Given the description of an element on the screen output the (x, y) to click on. 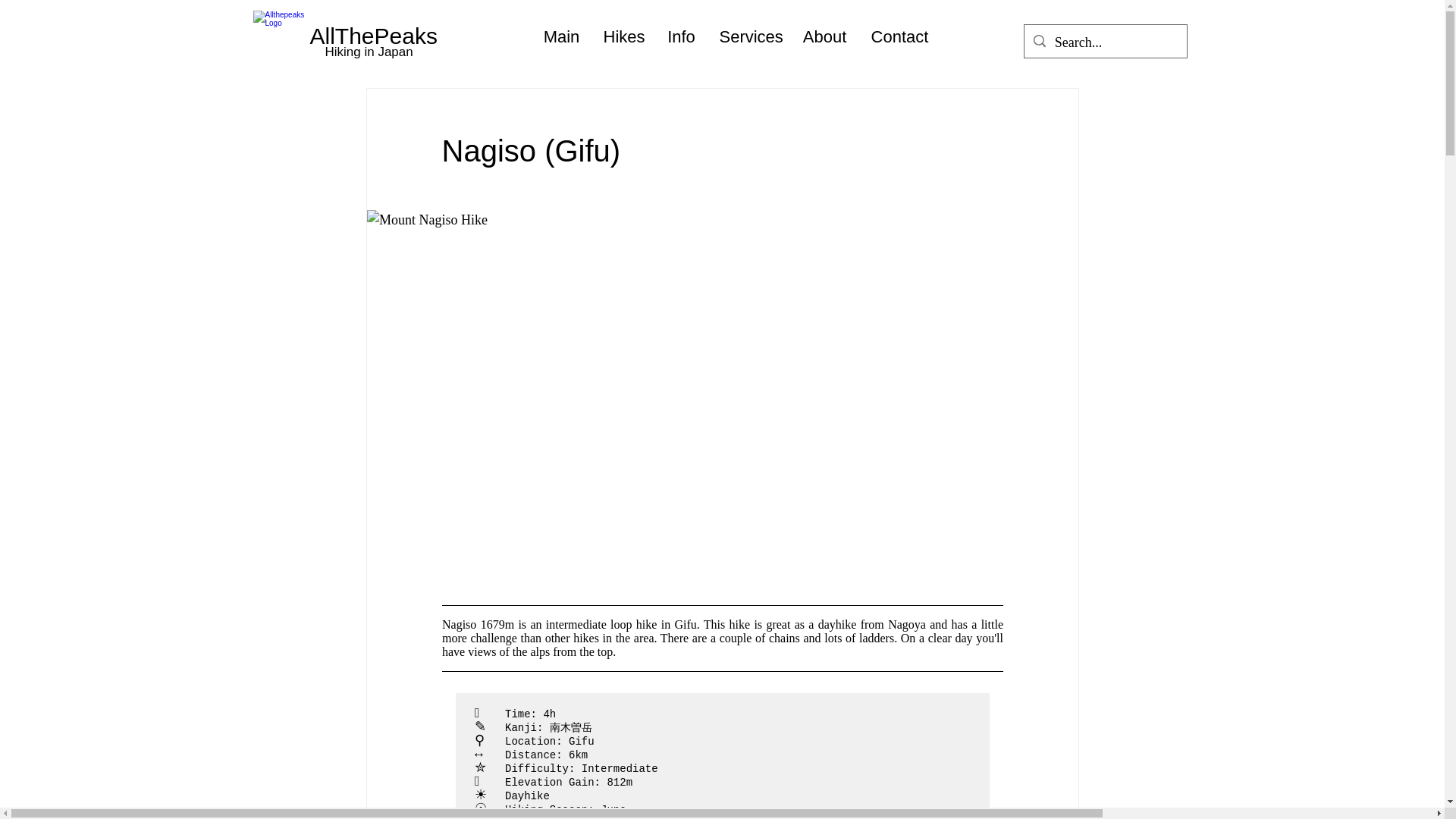
Contact (900, 36)
Hiking in Japan (368, 51)
Services (748, 36)
Info (680, 36)
Hikes (622, 36)
About (824, 36)
AllThePeaks (372, 35)
Main (561, 36)
